Given the description of an element on the screen output the (x, y) to click on. 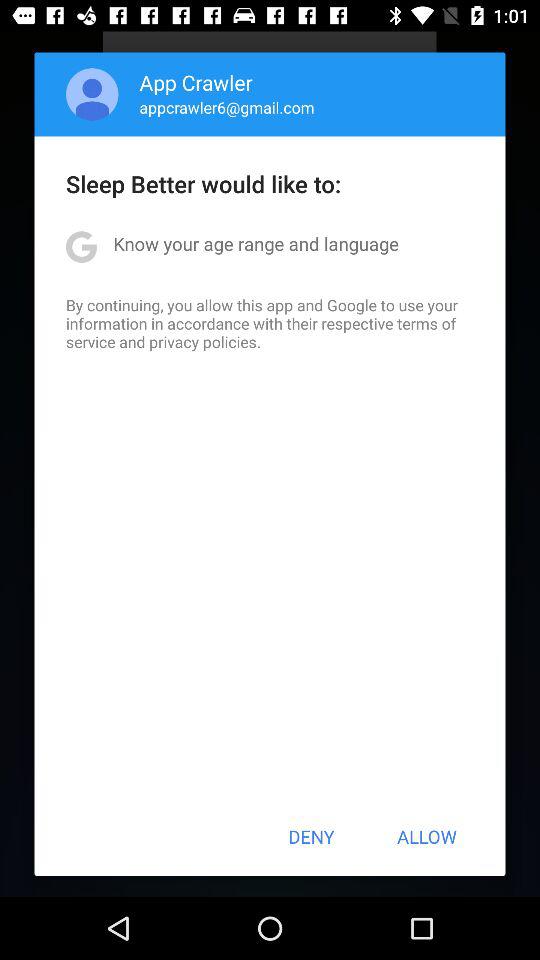
turn off deny (311, 836)
